Given the description of an element on the screen output the (x, y) to click on. 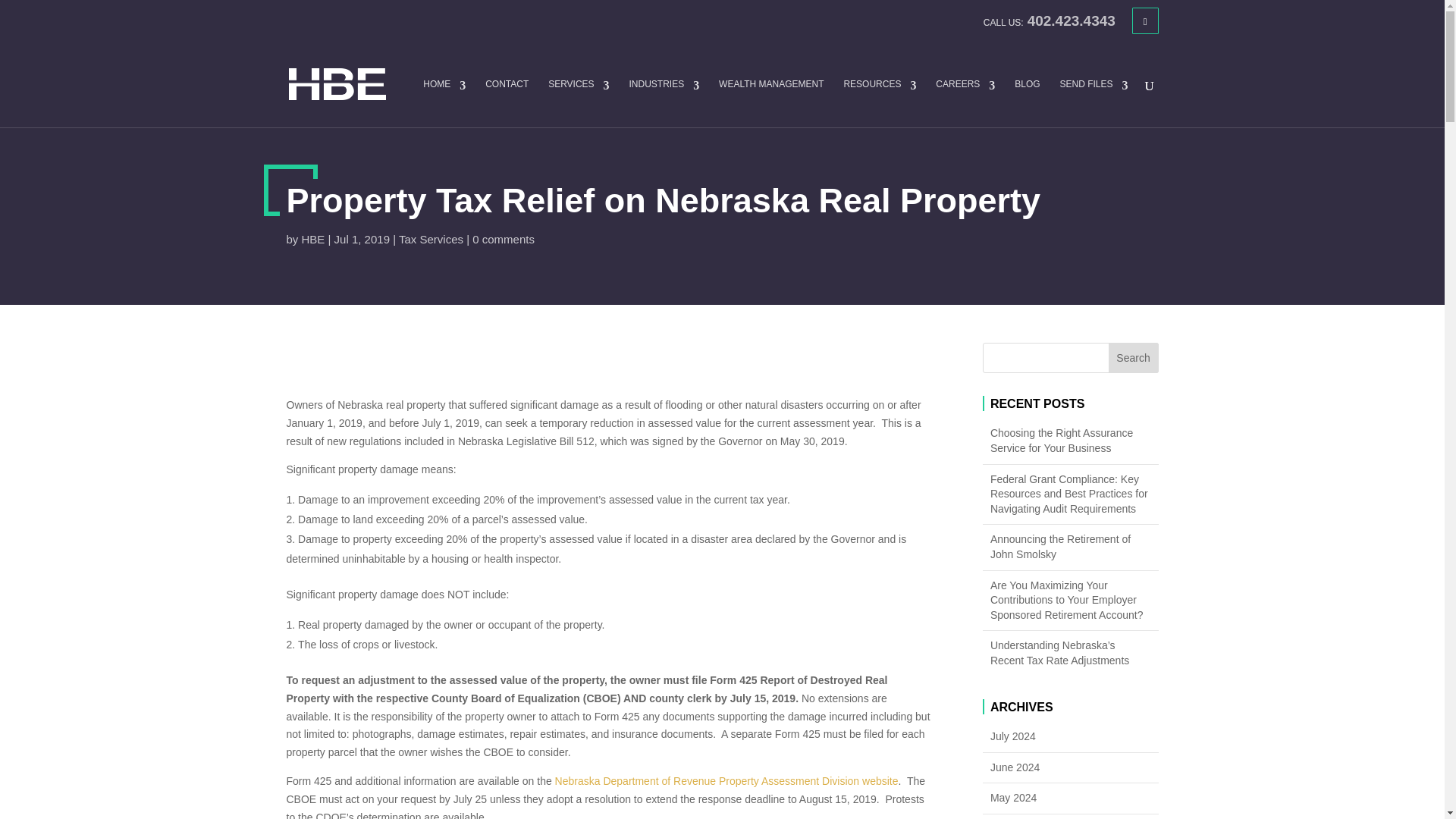
SERVICES (578, 103)
Posts by HBE (312, 237)
WEALTH MANAGEMENT (771, 103)
Search (1133, 358)
CONTACT (506, 103)
SEND FILES (1092, 103)
INDUSTRIES (663, 103)
RESOURCES (879, 103)
CAREERS (965, 103)
